Given the description of an element on the screen output the (x, y) to click on. 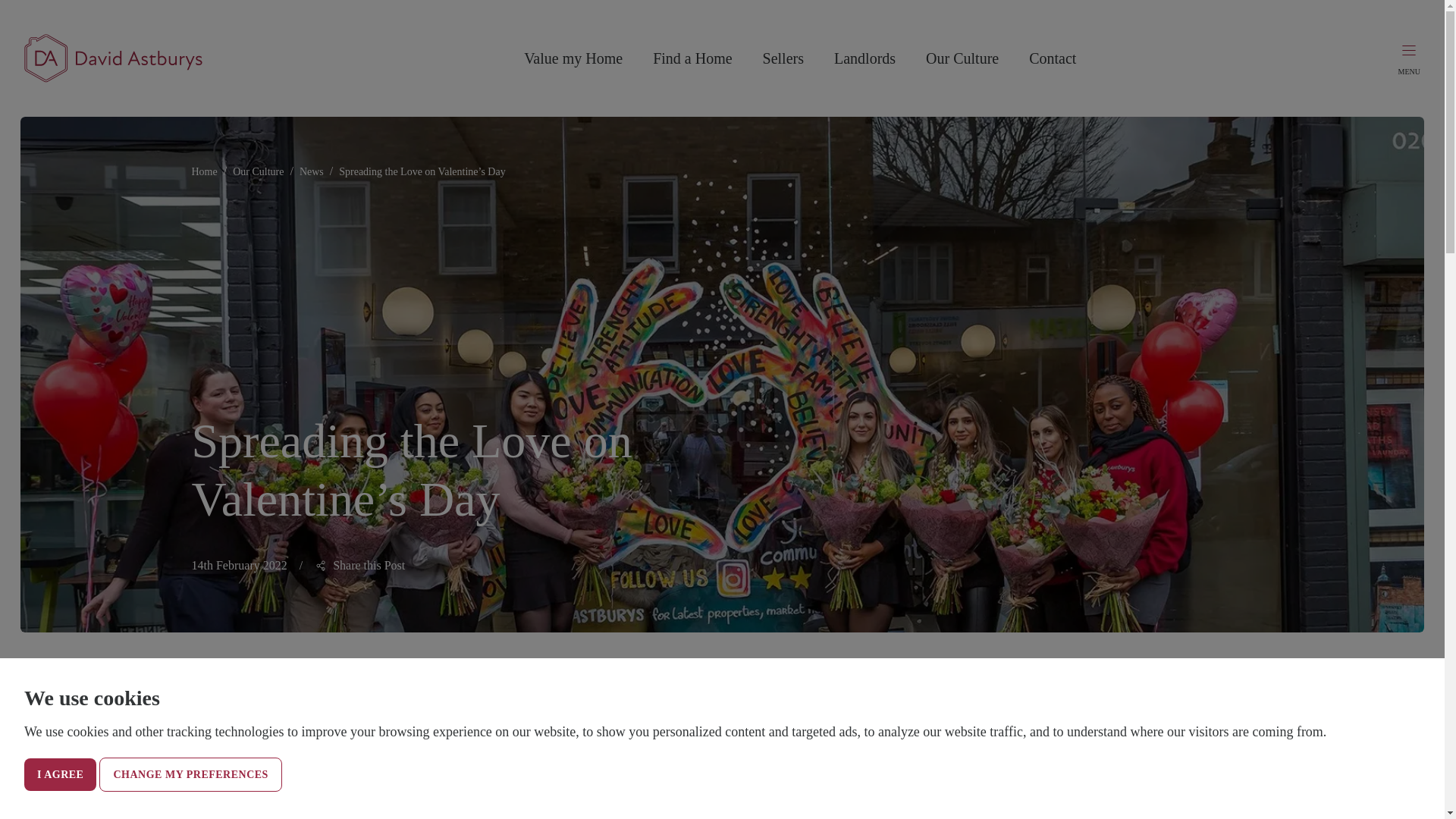
Our Culture (962, 57)
CHANGE MY PREFERENCES (190, 774)
Sellers (782, 57)
Landlords (864, 57)
Our Culture (257, 172)
I AGREE (60, 774)
Share this Post (359, 565)
Home (203, 172)
Find a Home (692, 57)
Value my Home (573, 57)
